Given the description of an element on the screen output the (x, y) to click on. 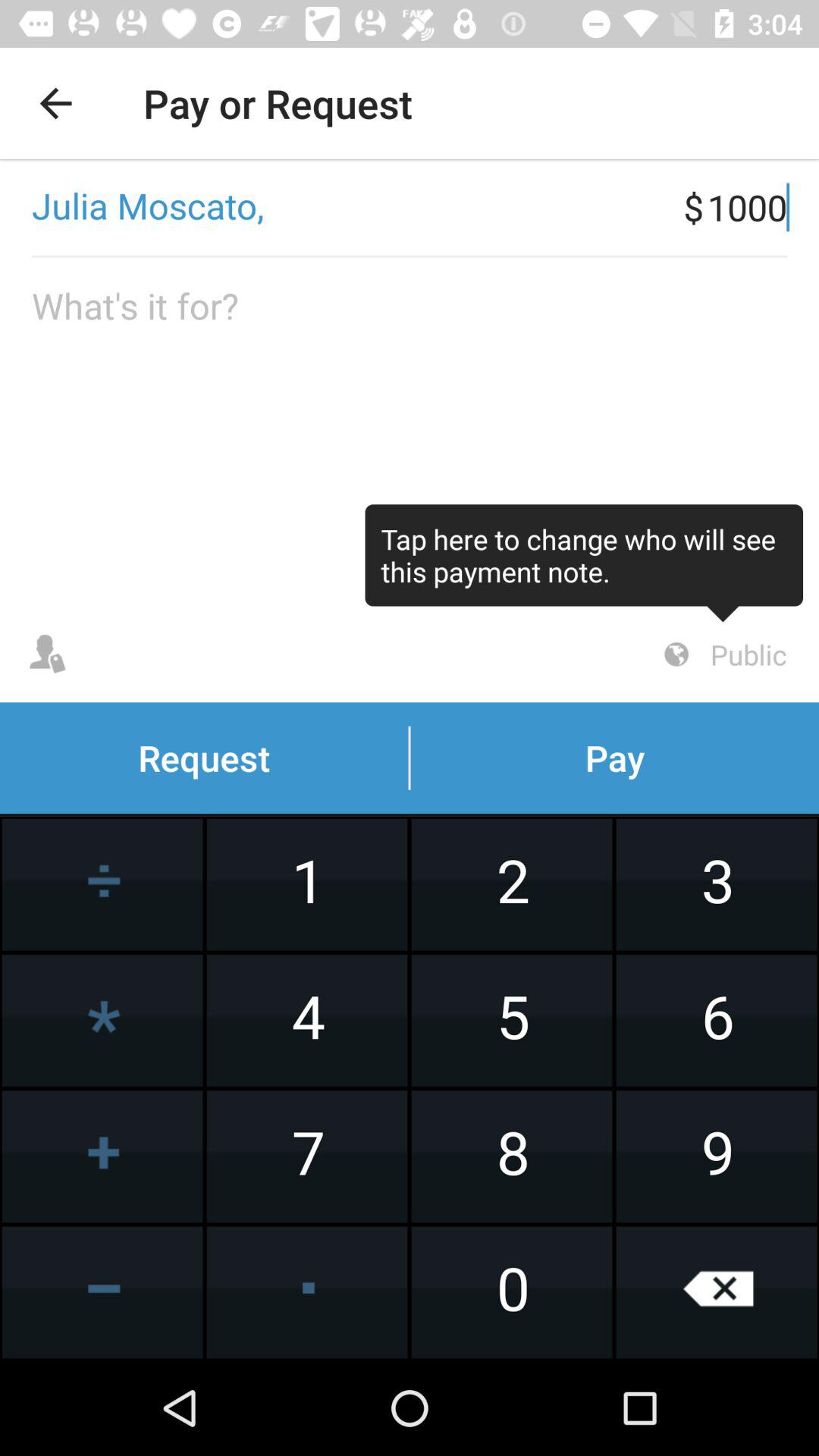
this is for entering the amount of money you want to pay or request (409, 431)
